Given the description of an element on the screen output the (x, y) to click on. 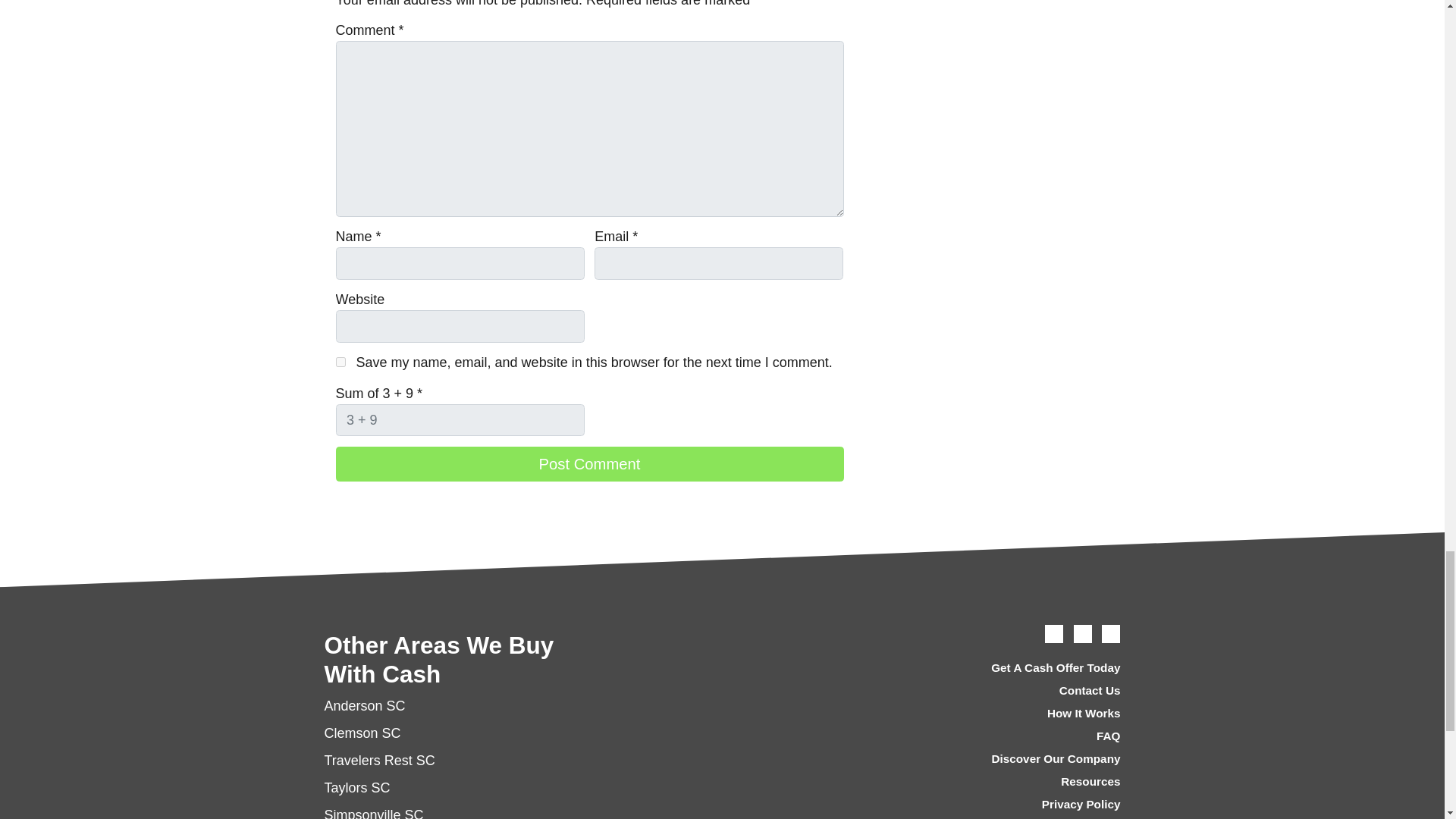
Anderson SC (365, 705)
Facebook (1053, 633)
Post Comment (588, 463)
FAQ (995, 735)
Resources (995, 782)
Contact Us (995, 690)
Post Comment (588, 463)
How It Works (995, 712)
yes (339, 361)
Clemson SC (362, 733)
Zillow (1110, 633)
Get A Cash Offer Today (995, 667)
Privacy Policy (995, 804)
YouTube (1083, 633)
